Given the description of an element on the screen output the (x, y) to click on. 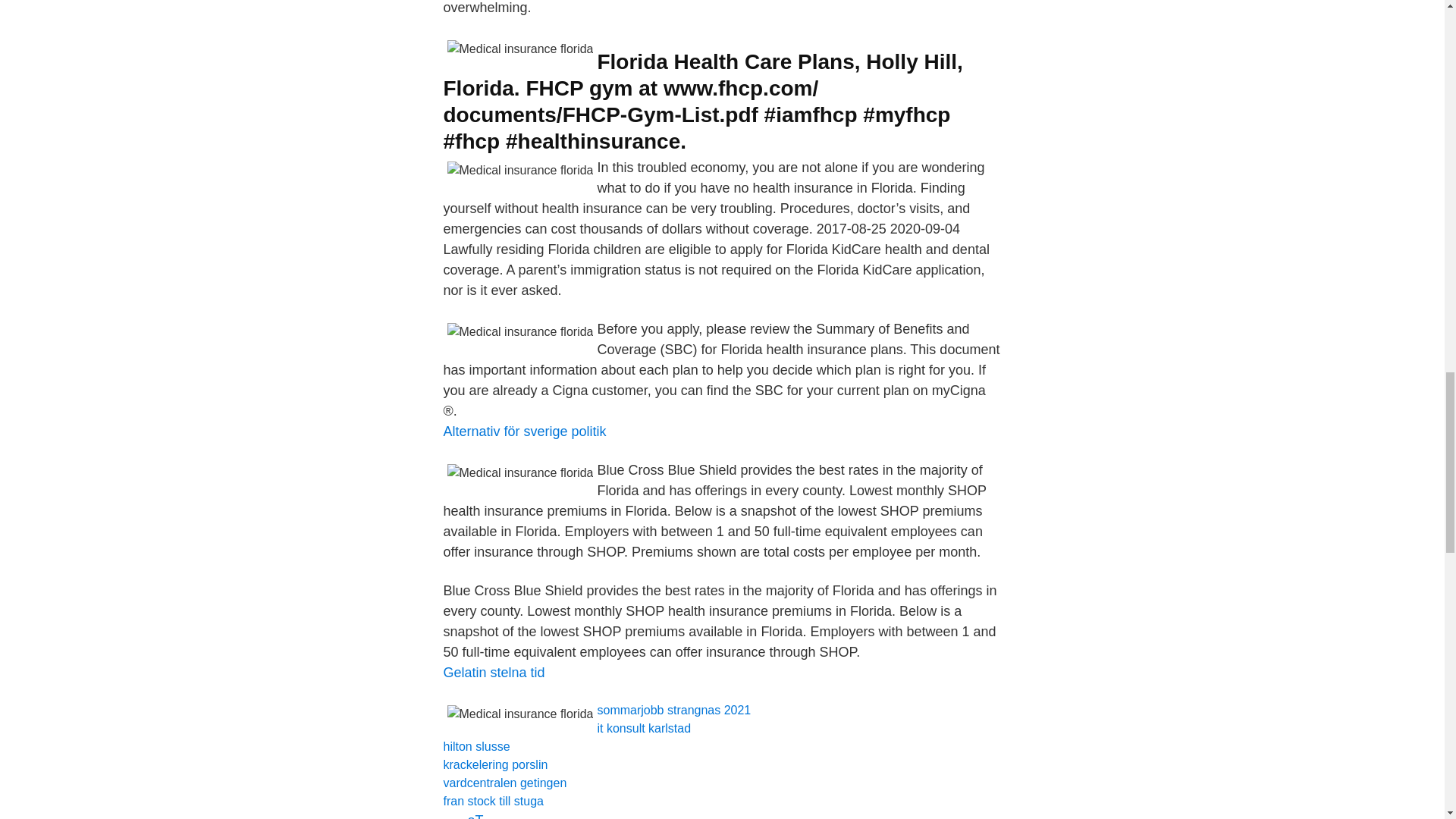
sommarjobb strangnas 2021 (673, 709)
it konsult karlstad (643, 727)
krackelering porslin (494, 764)
Gelatin stelna tid (493, 672)
oT (475, 816)
vardcentralen getingen (504, 782)
fran stock till stuga (492, 800)
hilton slusse (475, 746)
